Given the description of an element on the screen output the (x, y) to click on. 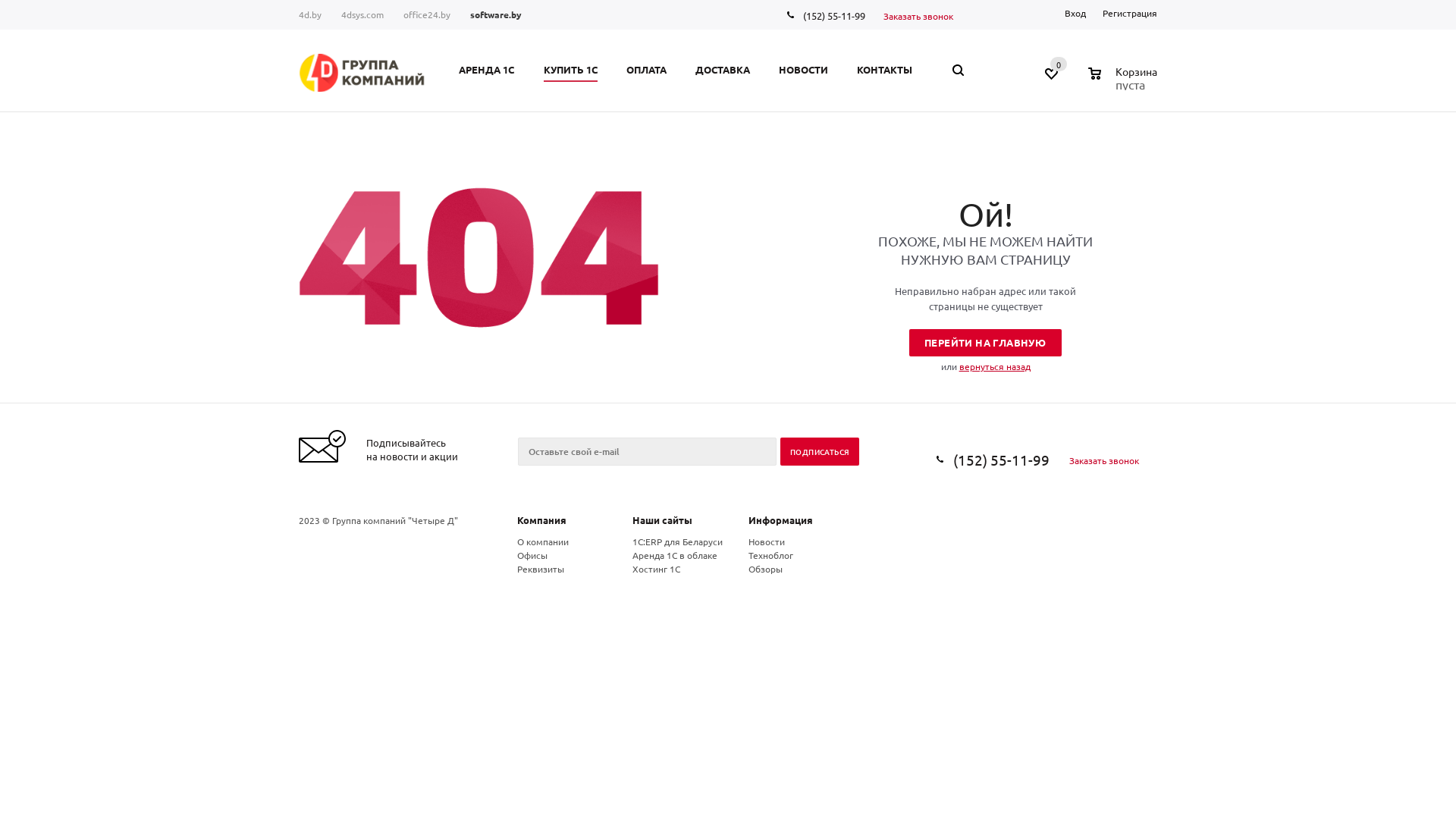
4d.by Element type: text (314, 15)
4dsys.com Element type: text (362, 15)
software.by Element type: text (495, 15)
:-( Element type: hover (478, 258)
office24.by Element type: text (426, 15)
4D Element type: hover (361, 72)
(152) 55-11-99 Element type: text (834, 15)
(152) 55-11-99 Element type: text (1001, 459)
